Given the description of an element on the screen output the (x, y) to click on. 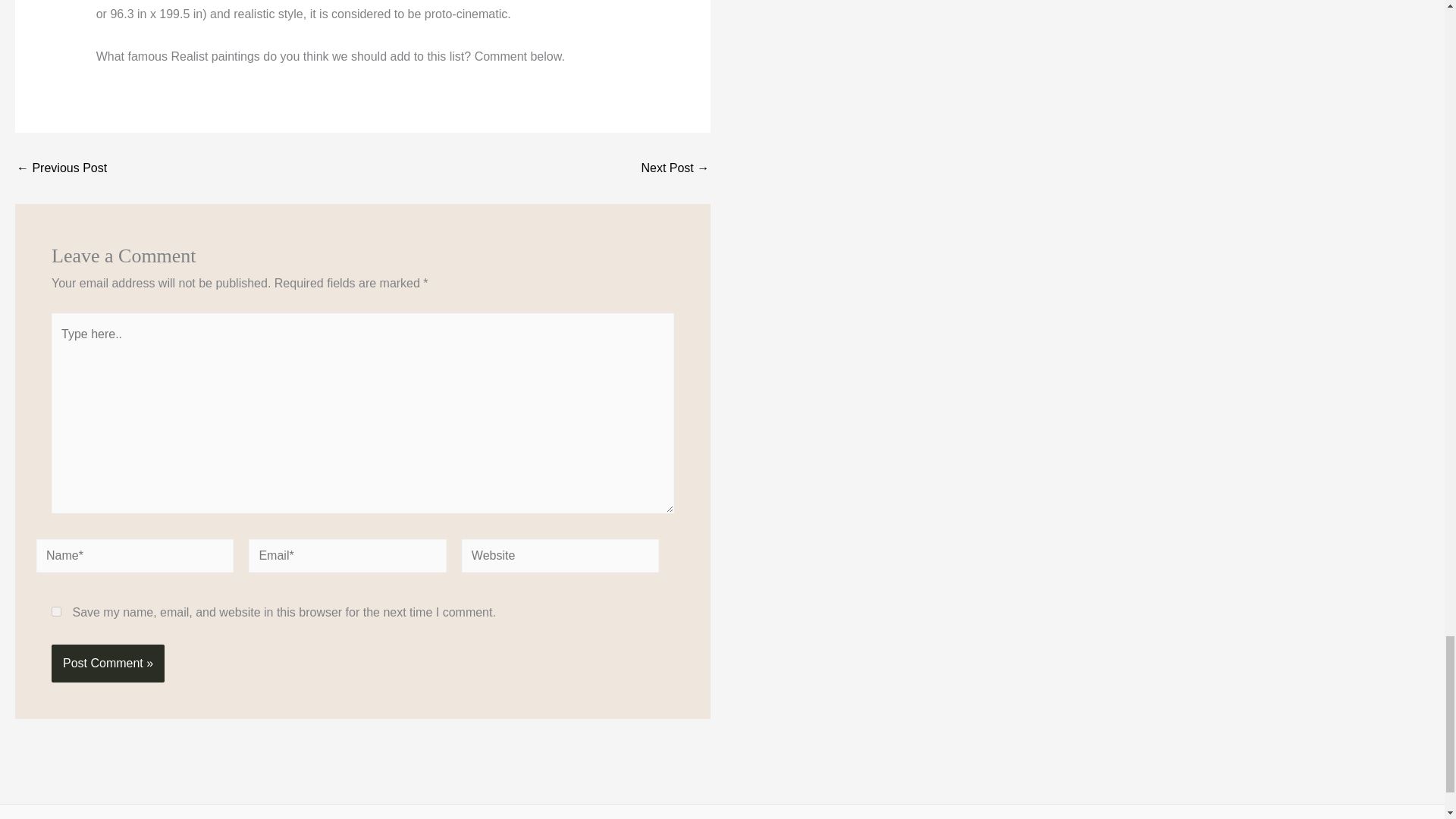
yes (55, 611)
12 of the Most Famous Dutch Golden Age Paintings (61, 168)
Best Art History Films (674, 168)
